Given the description of an element on the screen output the (x, y) to click on. 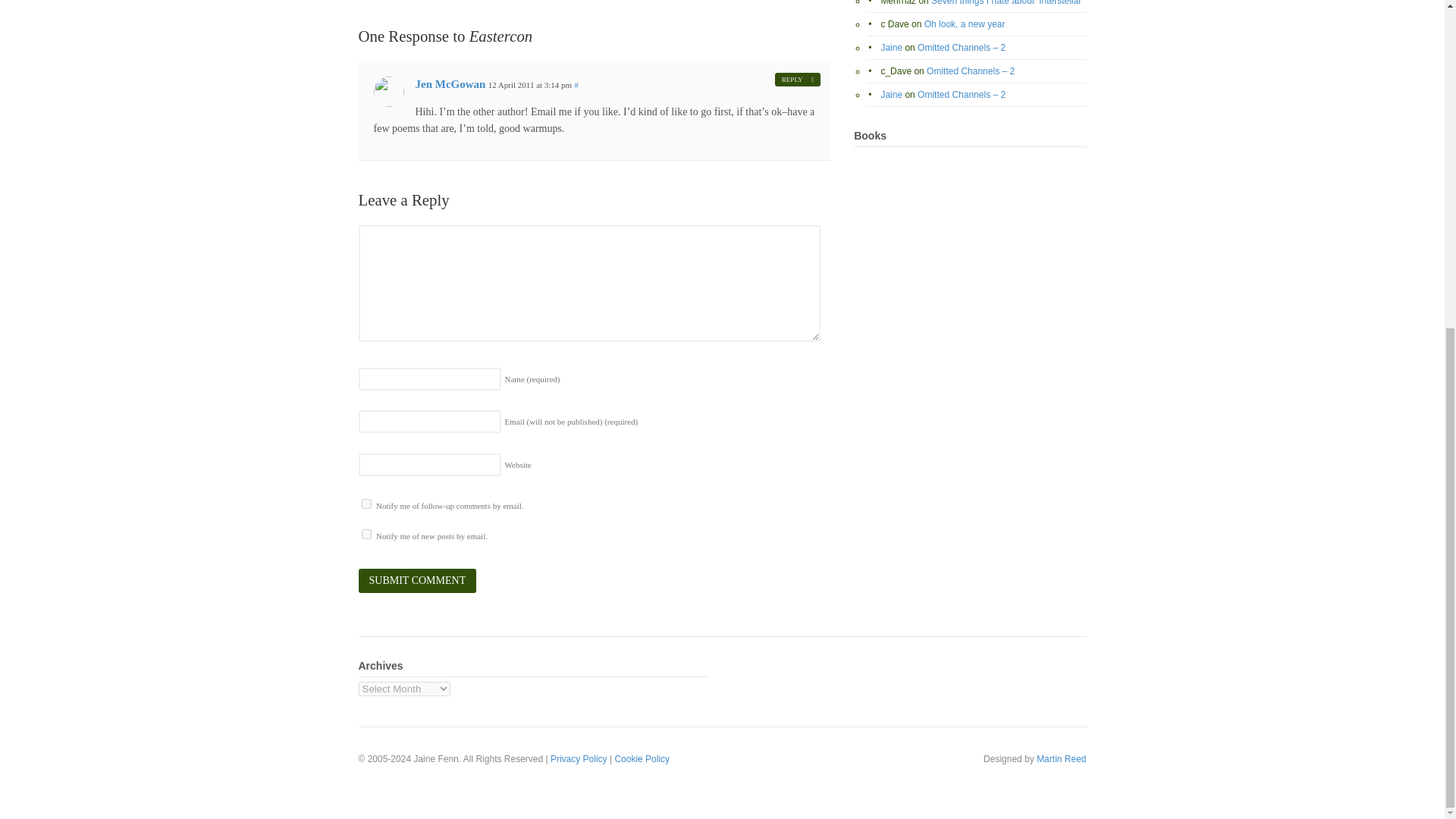
Submit Comment (417, 580)
Jen McGowan (450, 83)
REPLY (797, 79)
Submit Comment (417, 580)
subscribe (366, 503)
subscribe (366, 533)
